Given the description of an element on the screen output the (x, y) to click on. 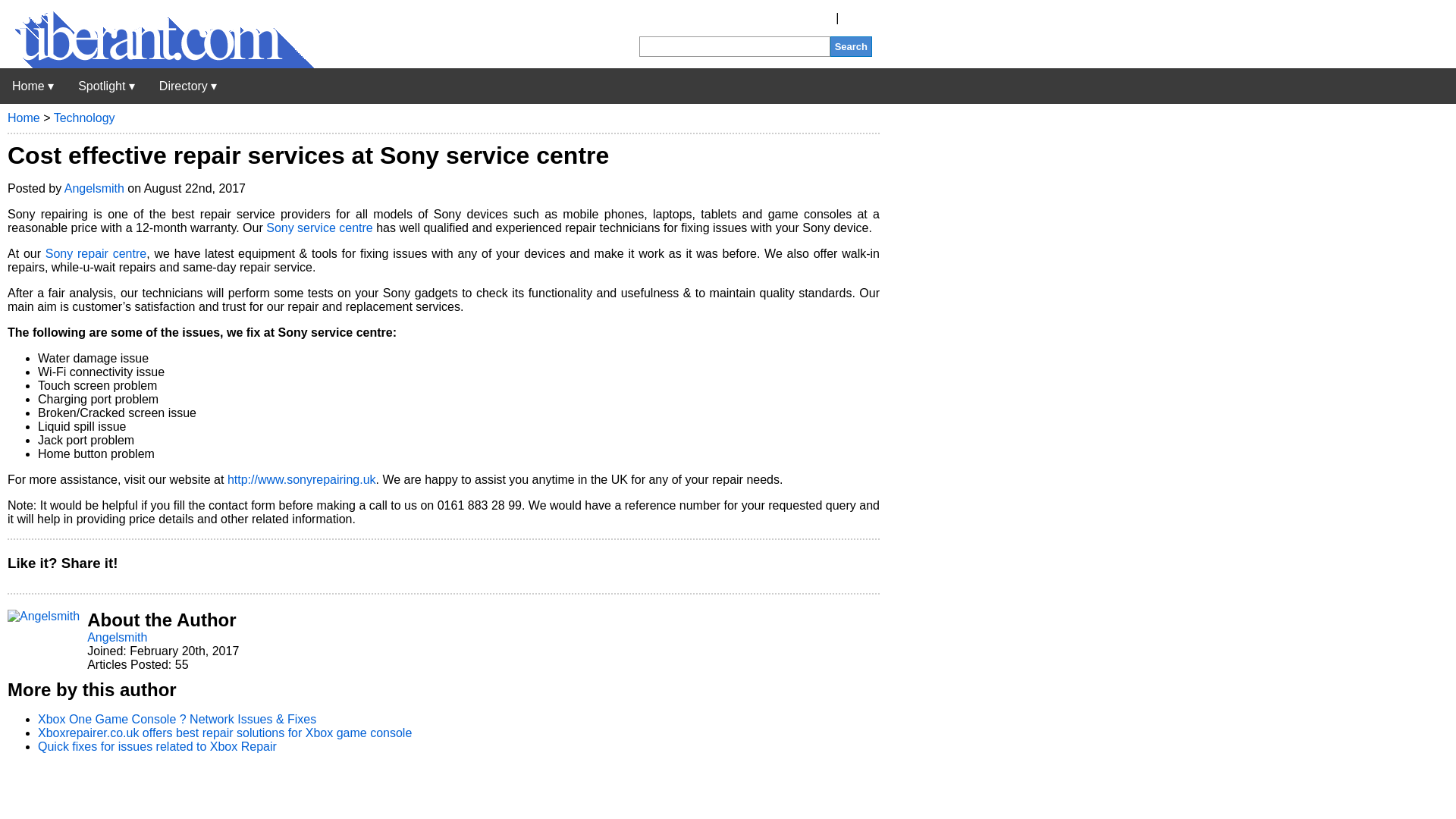
Uberant (157, 63)
Uberant (32, 85)
Login (857, 17)
Search (850, 46)
Register (809, 17)
Search (850, 46)
